Given the description of an element on the screen output the (x, y) to click on. 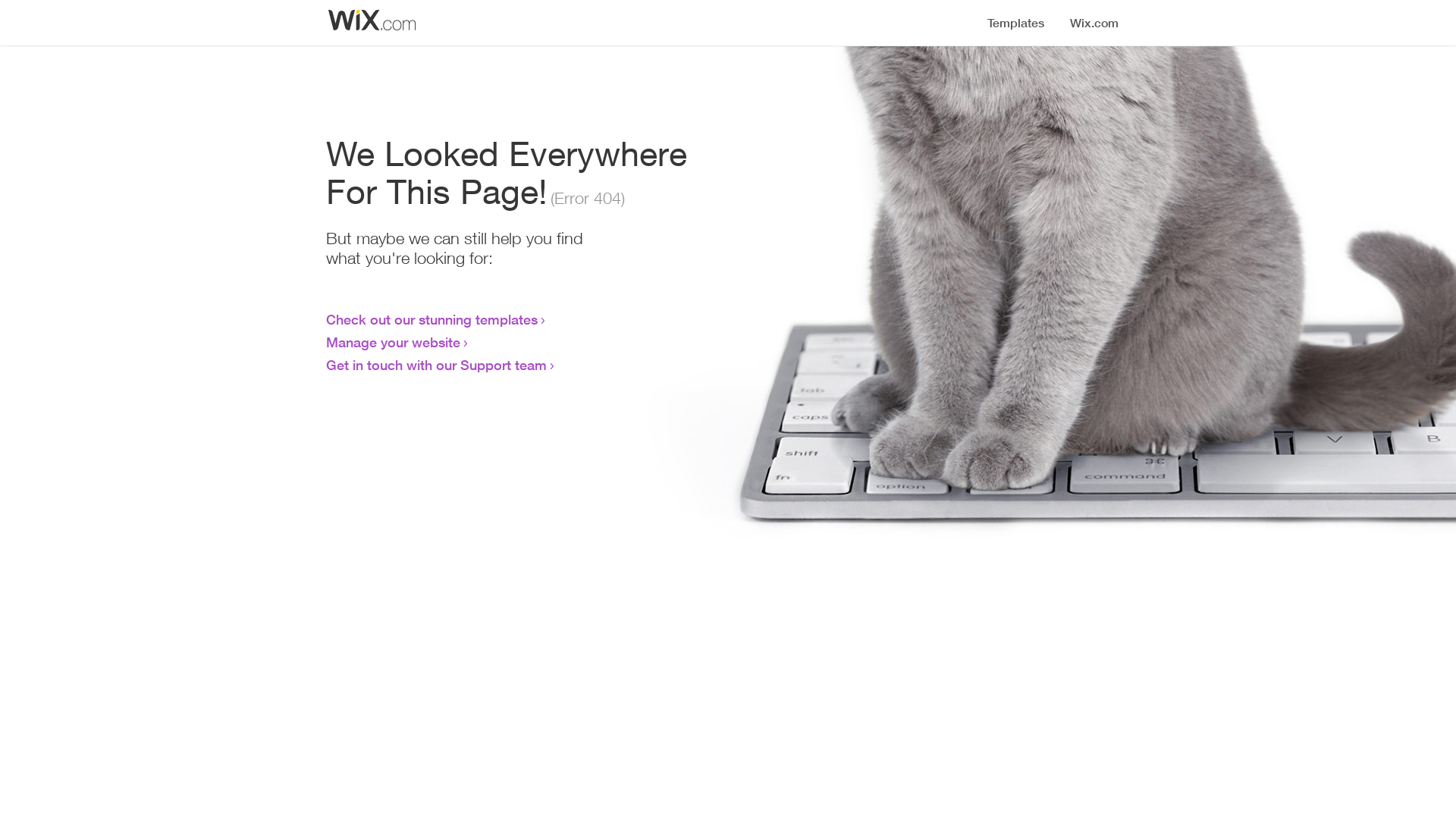
Manage your website Element type: text (393, 341)
Check out our stunning templates Element type: text (431, 318)
Get in touch with our Support team Element type: text (436, 364)
